Given the description of an element on the screen output the (x, y) to click on. 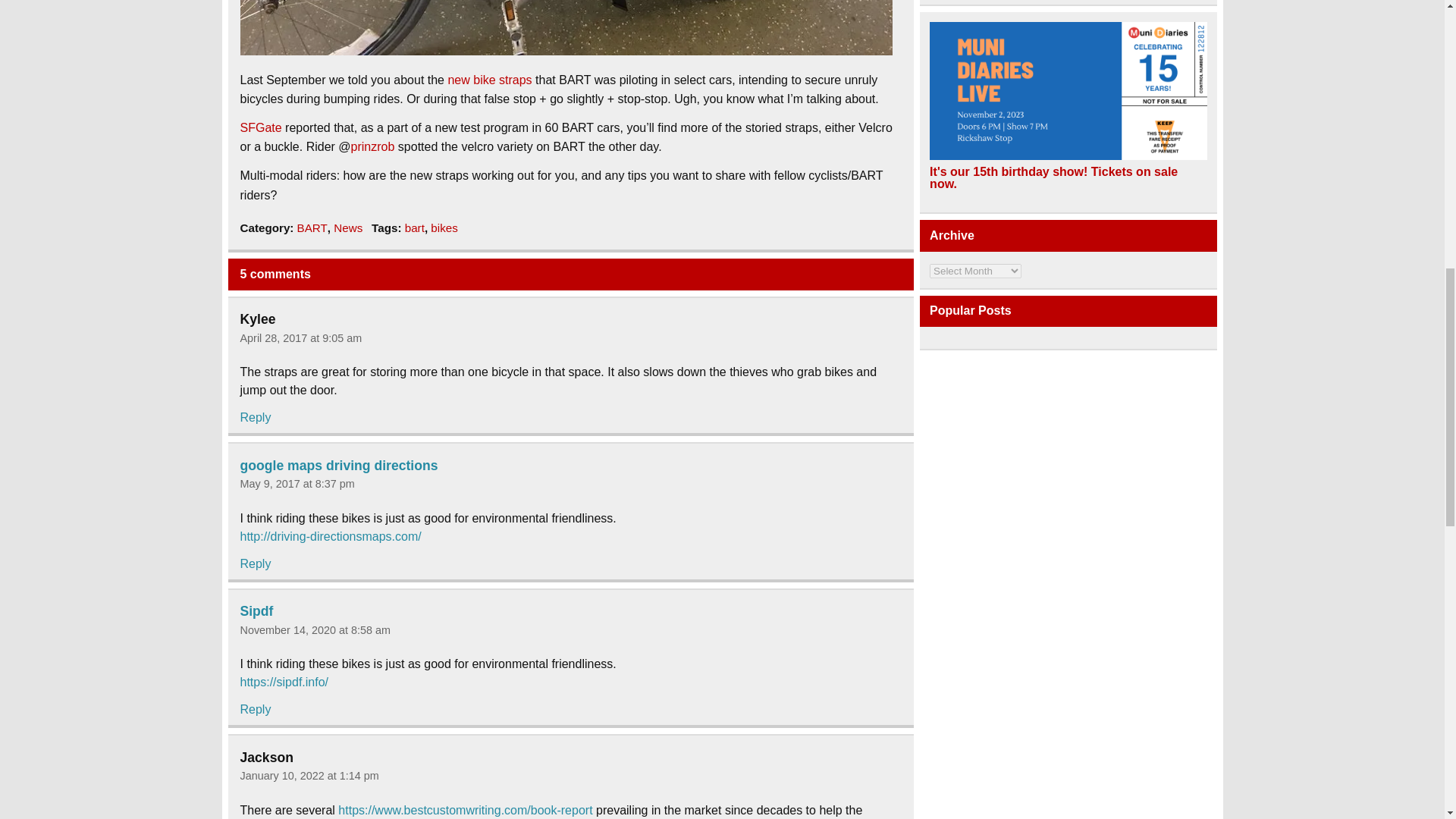
SFGate (260, 127)
BART (312, 227)
new bike straps (488, 79)
News (347, 227)
prinzrob (372, 146)
